Given the description of an element on the screen output the (x, y) to click on. 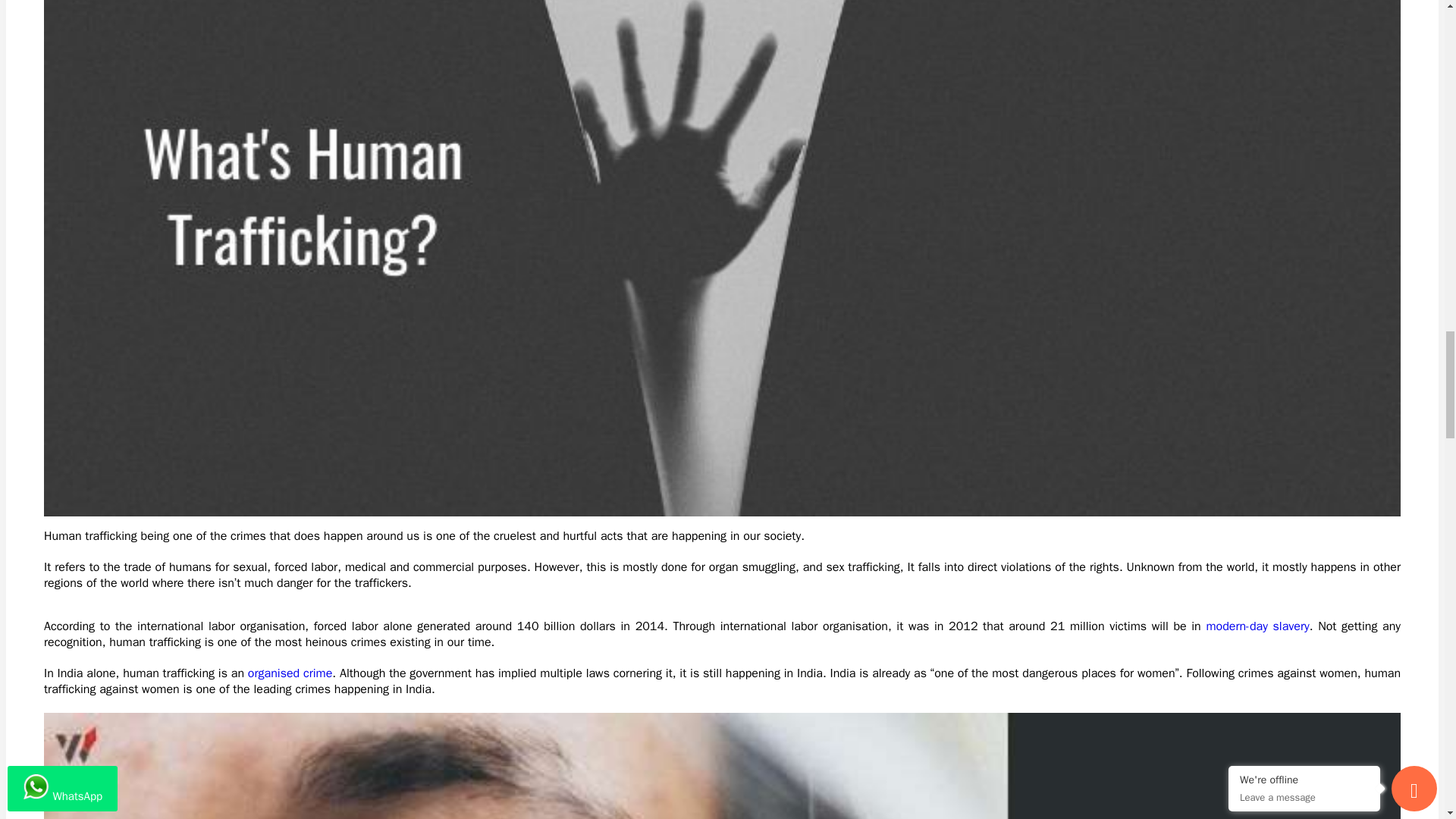
modern-day slavery (1256, 626)
organised crime (290, 672)
